Given the description of an element on the screen output the (x, y) to click on. 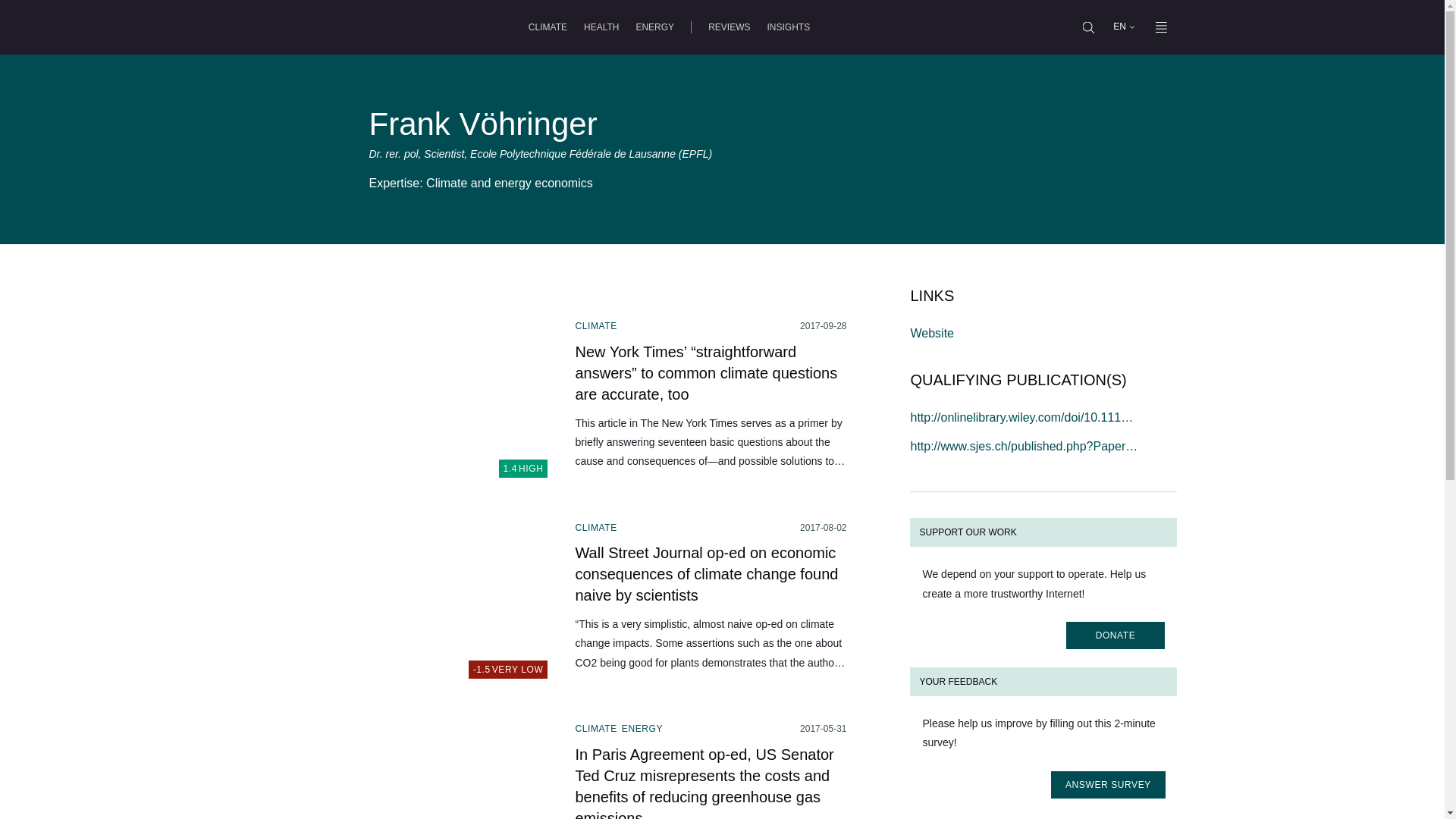
HEALTH (601, 26)
English (1119, 26)
ENERGY (653, 26)
Website (931, 332)
CLIMATE (547, 26)
REVIEWS (728, 26)
EN (1123, 27)
DONATE (1114, 635)
ANSWER SURVEY (411, 605)
INSIGHTS (1108, 784)
Skip to content (787, 26)
